Given the description of an element on the screen output the (x, y) to click on. 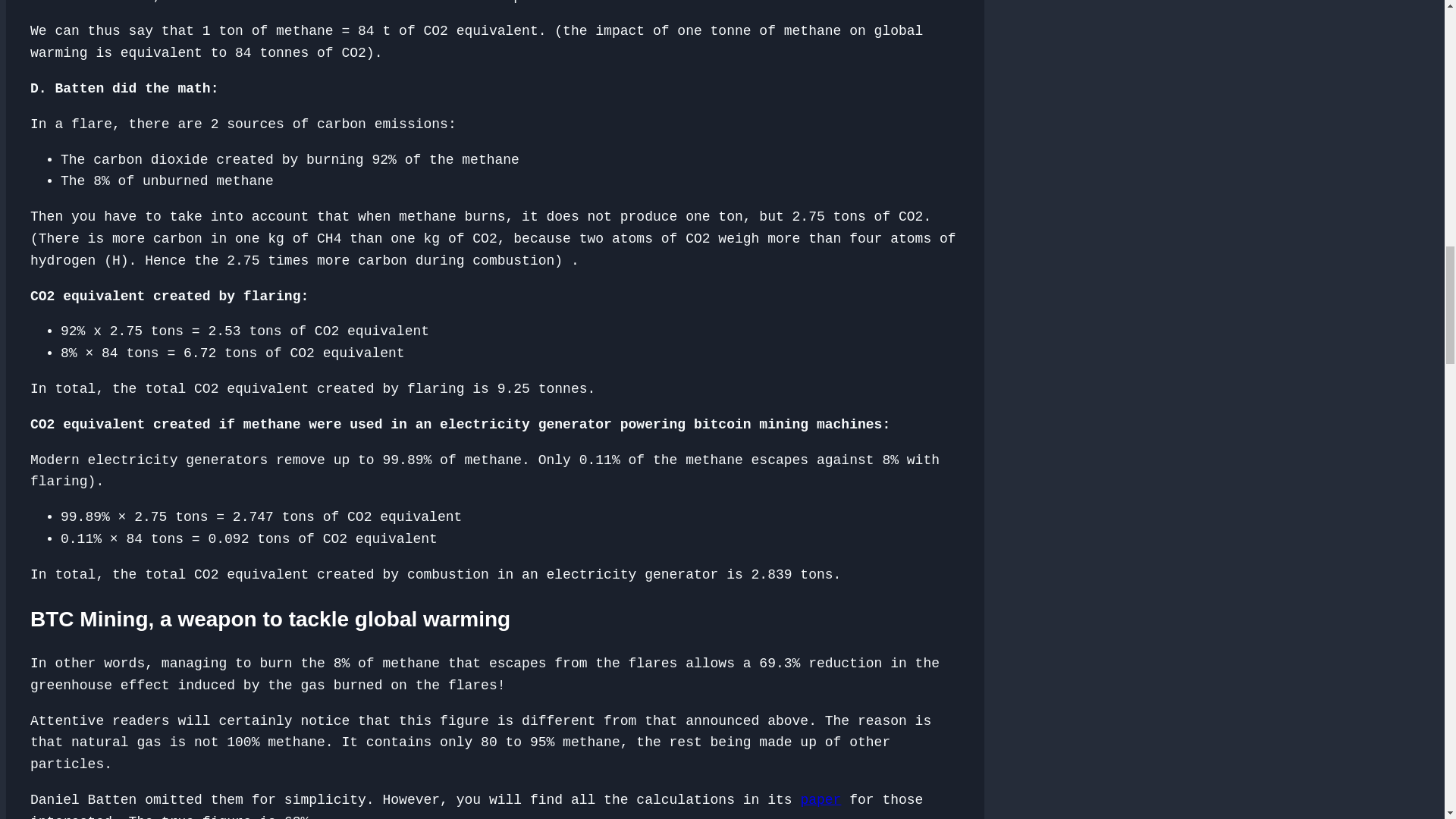
paper (820, 799)
